Given the description of an element on the screen output the (x, y) to click on. 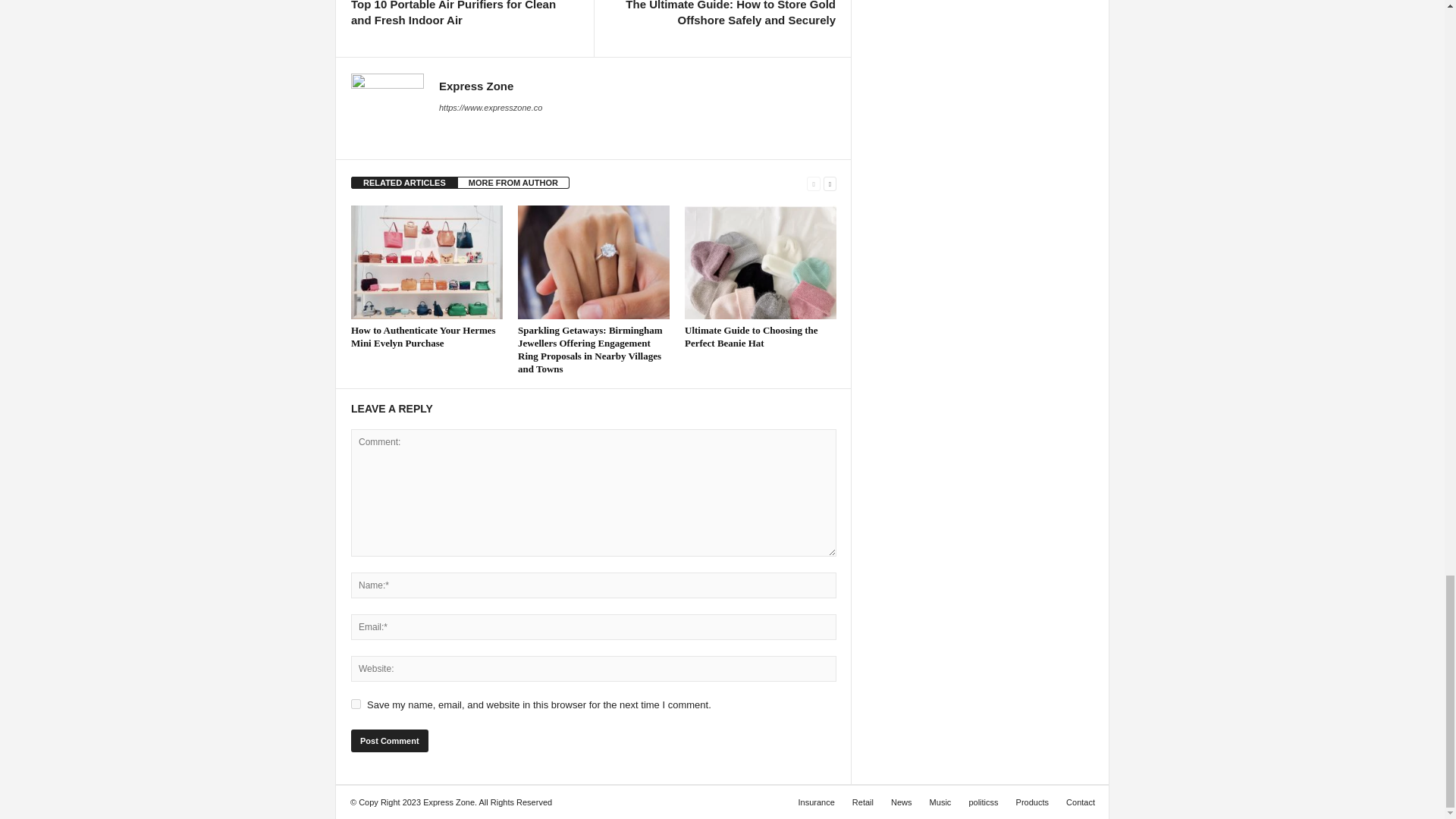
yes (355, 704)
Post Comment (389, 740)
